Given the description of an element on the screen output the (x, y) to click on. 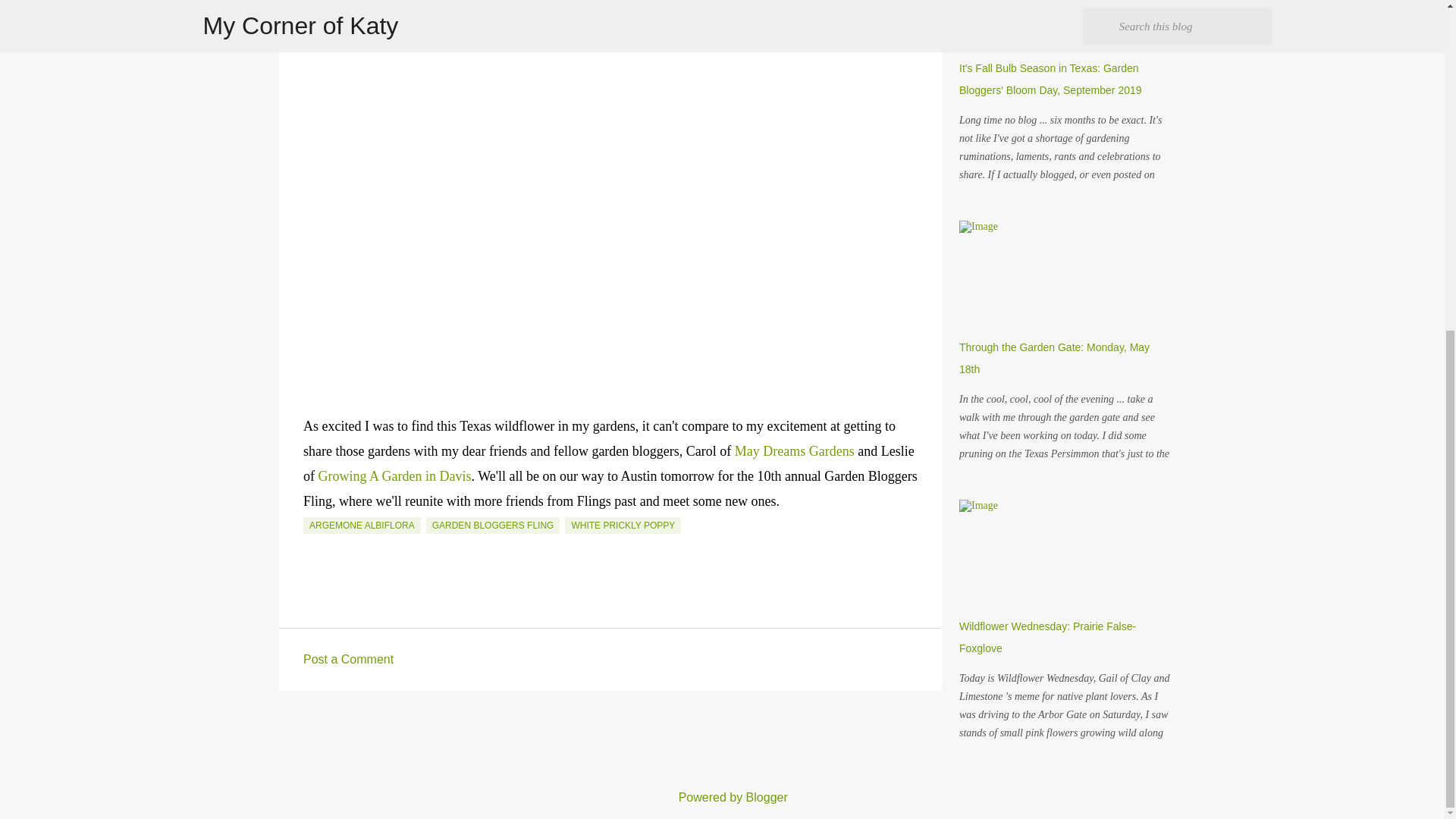
Growing A Garden in Davis (394, 476)
Wildflower Wednesday: Prairie False-Foxglove (1047, 636)
Powered by Blogger (721, 797)
May Dreams Gardens (794, 450)
Through the Garden Gate: Monday, May 18th (1054, 358)
Post a Comment (347, 658)
GARDEN BLOGGERS FLING (493, 524)
ARGEMONE ALBIFLORA (361, 524)
WHITE PRICKLY POPPY (622, 524)
